Given the description of an element on the screen output the (x, y) to click on. 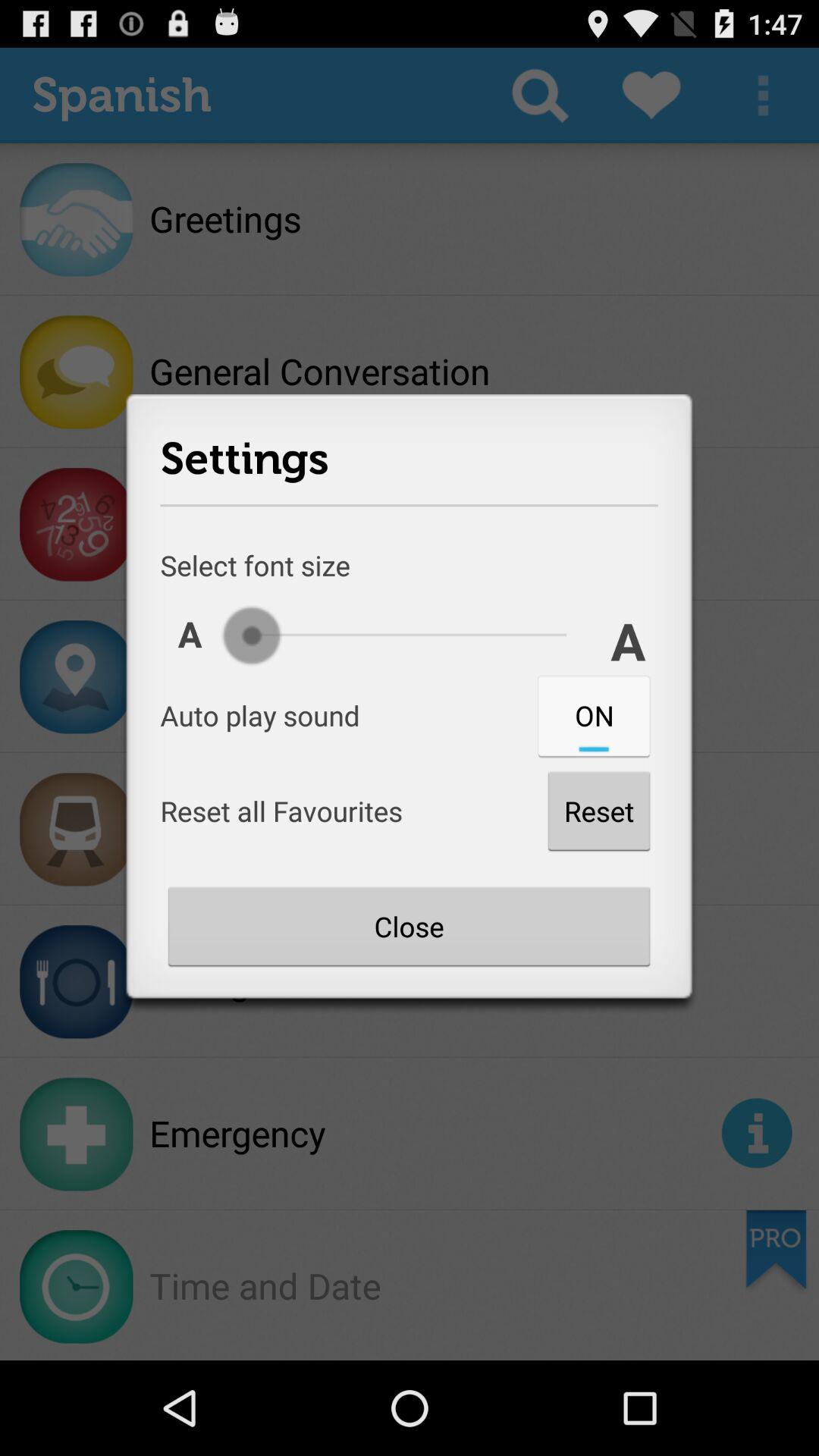
choose item above reset button (594, 715)
